Given the description of an element on the screen output the (x, y) to click on. 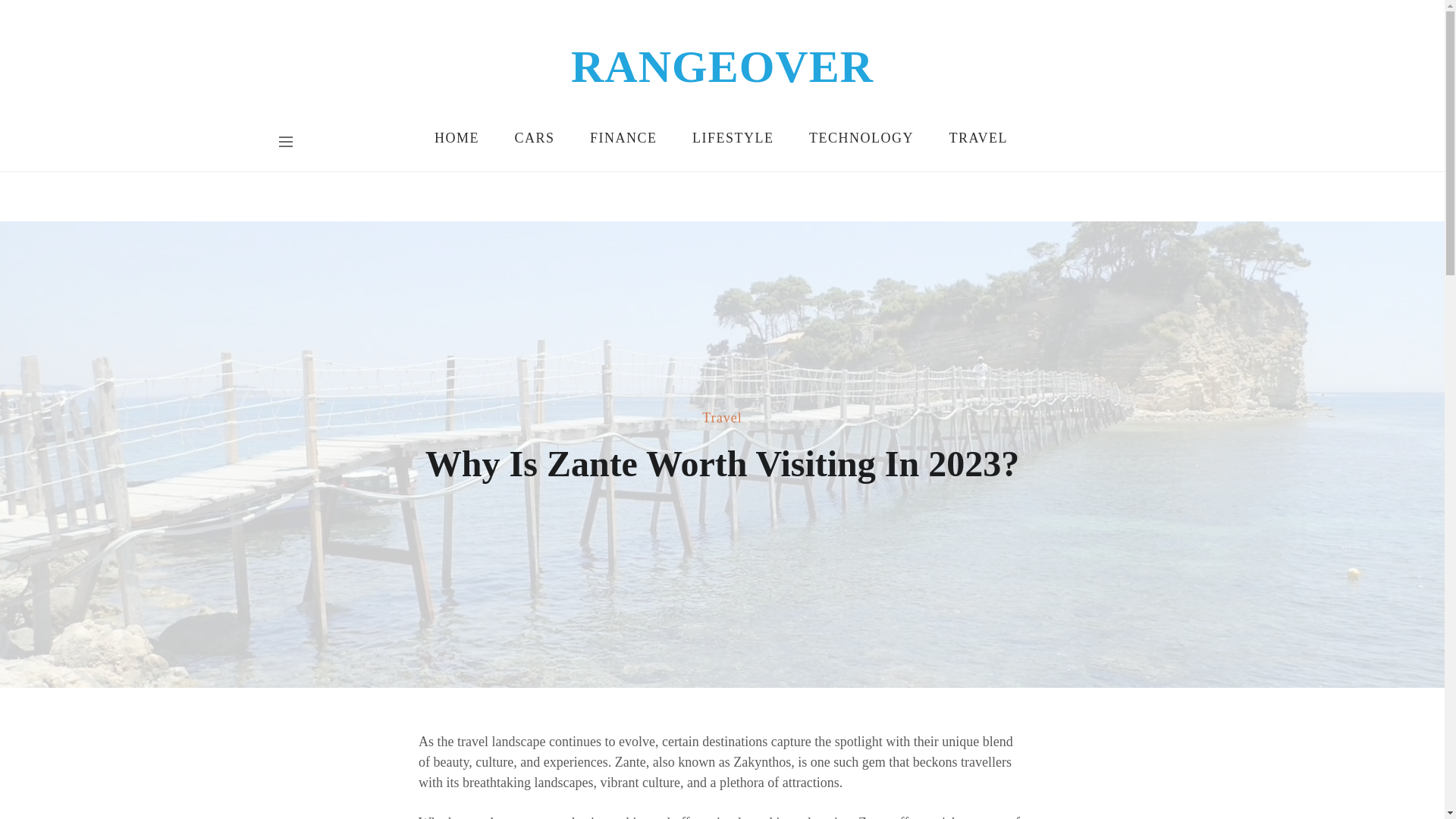
CARS (535, 142)
Travel (721, 418)
RANGEOVER (721, 66)
TECHNOLOGY (862, 142)
HOME (457, 142)
TRAVEL (979, 142)
FINANCE (625, 142)
LIFESTYLE (734, 142)
